Given the description of an element on the screen output the (x, y) to click on. 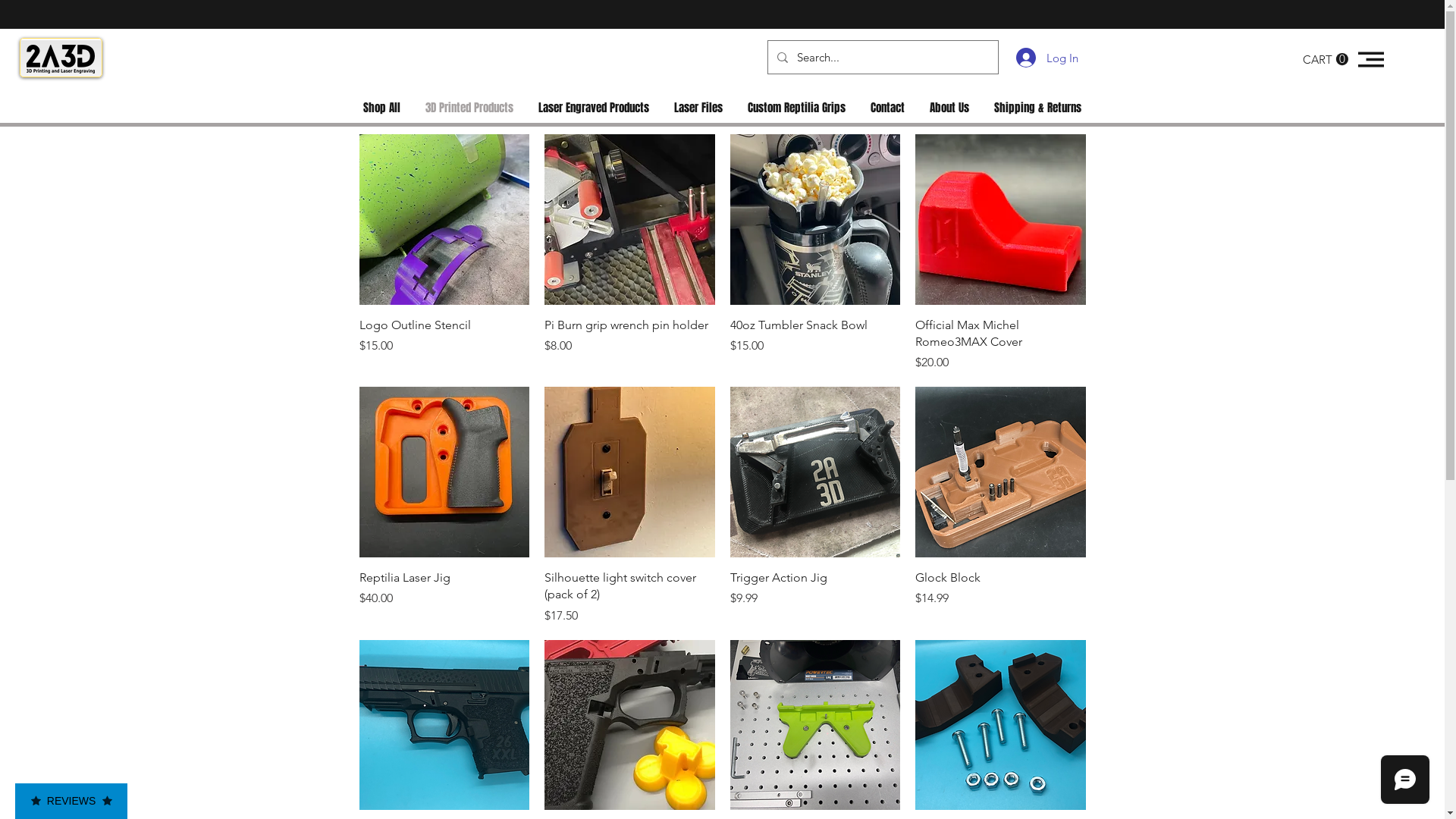
Shop All Element type: text (381, 107)
Shipping & Returns Element type: text (1037, 107)
40oz Tumbler Snack Bowl
Price
$15.00 Element type: text (814, 344)
Glock Block
Price
$14.99 Element type: text (1000, 596)
Silhouette light switch cover (pack of 2)
Price
$17.50 Element type: text (629, 596)
newtextlogo.png Element type: hover (60, 58)
About Us Element type: text (949, 107)
Official Max Michel Romeo3MAX Cover
Price
$20.00 Element type: text (1000, 344)
Logo Outline Stencil
Price
$15.00 Element type: text (444, 344)
0
CART Element type: text (1325, 59)
Trigger Action Jig
Price
$9.99 Element type: text (814, 596)
Laser Engraved Products Element type: text (594, 107)
Contact Element type: text (887, 107)
3D Printed Products Element type: text (468, 107)
Pi Burn grip wrench pin holder
Price
$8.00 Element type: text (629, 344)
Laser Files Element type: text (697, 107)
Log In Element type: text (1034, 57)
Custom Reptilia Grips Element type: text (796, 107)
Reptilia Laser Jig
Price
$40.00 Element type: text (444, 596)
